Given the description of an element on the screen output the (x, y) to click on. 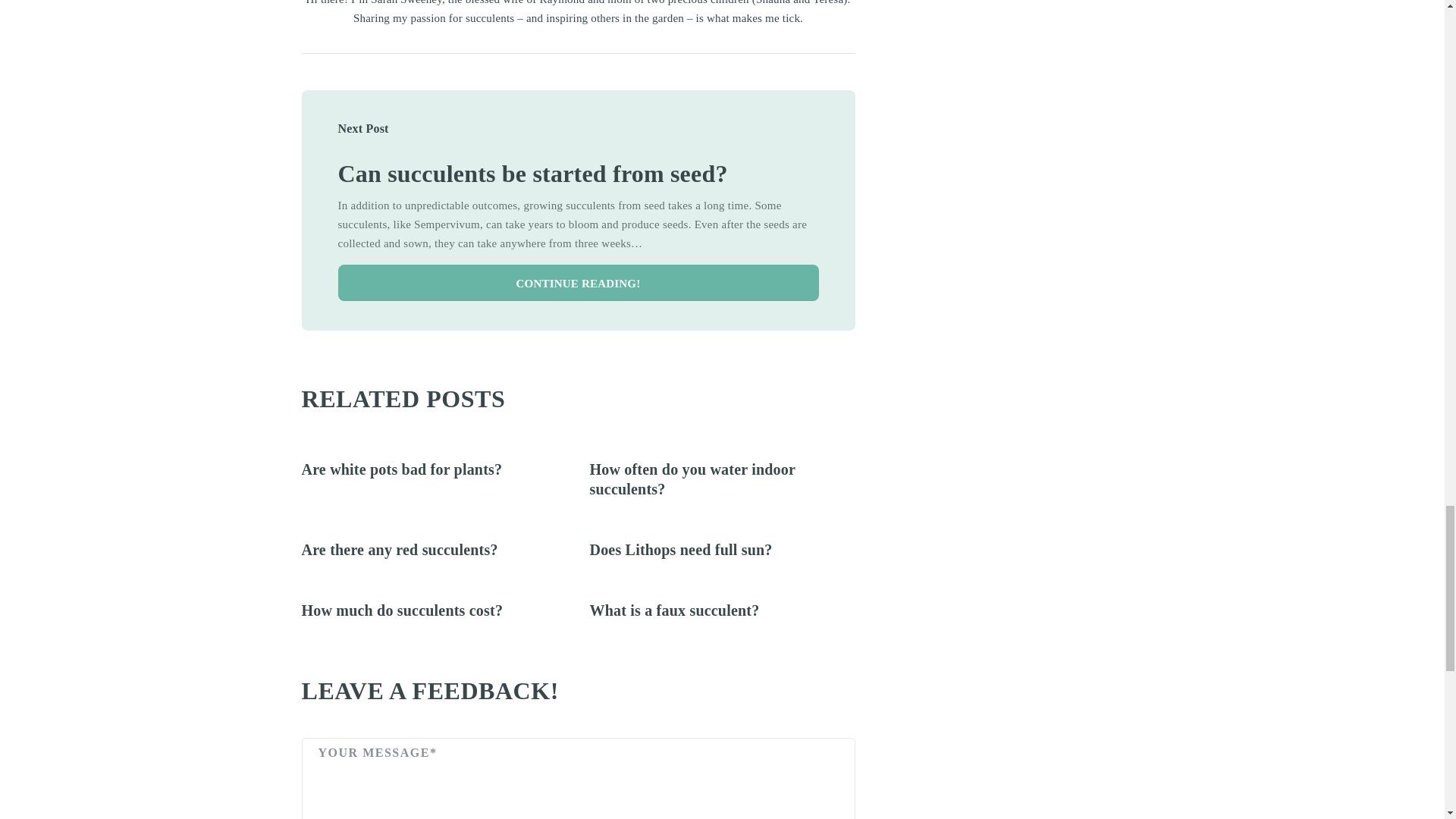
Are there any red succulents? (399, 549)
How often do you water indoor succulents? (691, 478)
How much do succulents cost? (402, 610)
Are white pots bad for plants? (401, 469)
CONTINUE READING! (577, 282)
How often do you water indoor succulents? (691, 478)
Can succulents be started from seed? (532, 173)
Are white pots bad for plants? (401, 469)
What is a faux succulent? (674, 610)
Does Lithops need full sun? (681, 549)
